Given the description of an element on the screen output the (x, y) to click on. 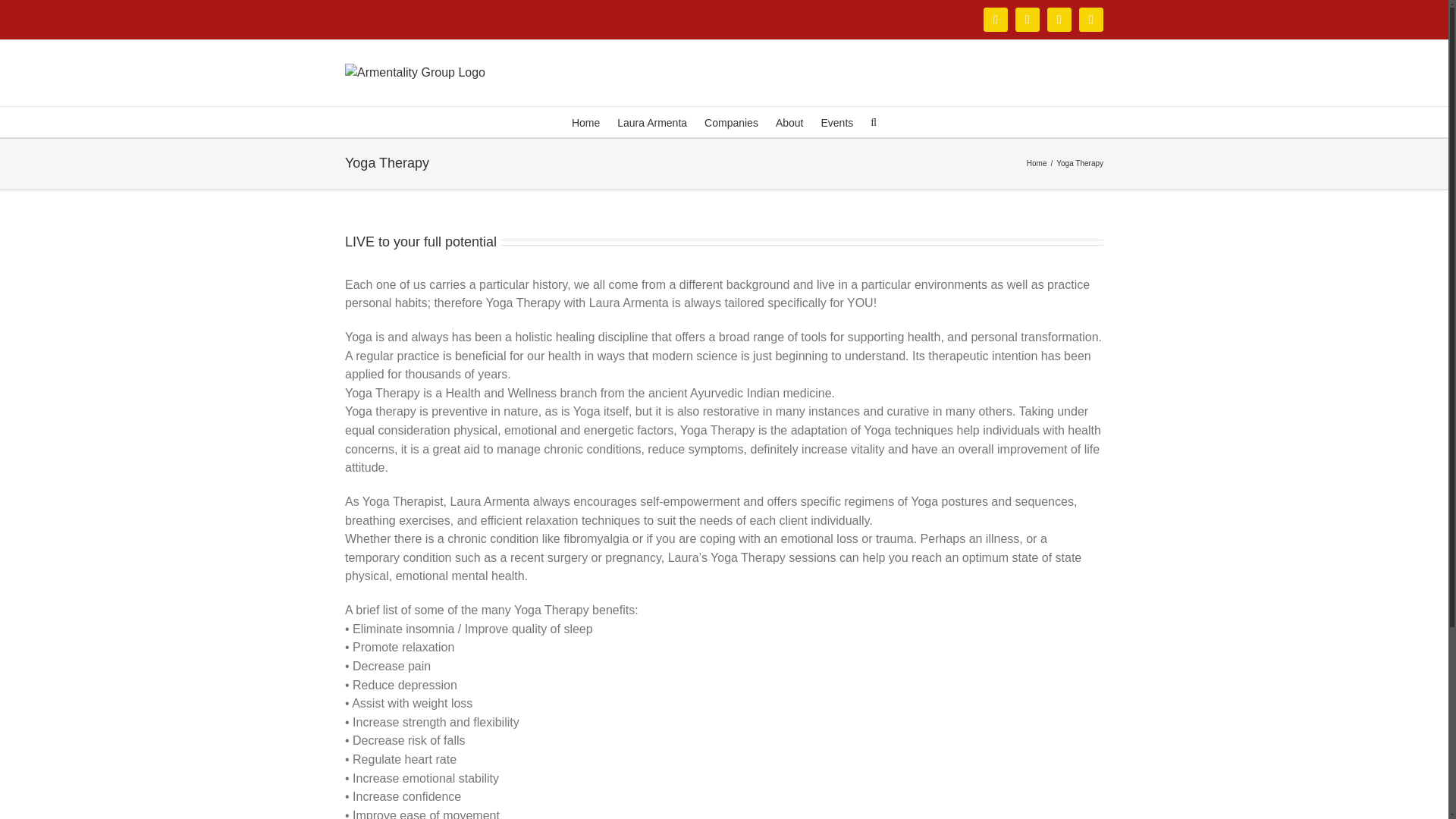
Instagram (995, 19)
Tiktok (1026, 19)
Companies (731, 122)
Facebook (1058, 19)
About (789, 122)
YouTube (1090, 19)
YouTube (1090, 19)
Laura Armenta (652, 122)
Events (837, 122)
Home (585, 122)
